Given the description of an element on the screen output the (x, y) to click on. 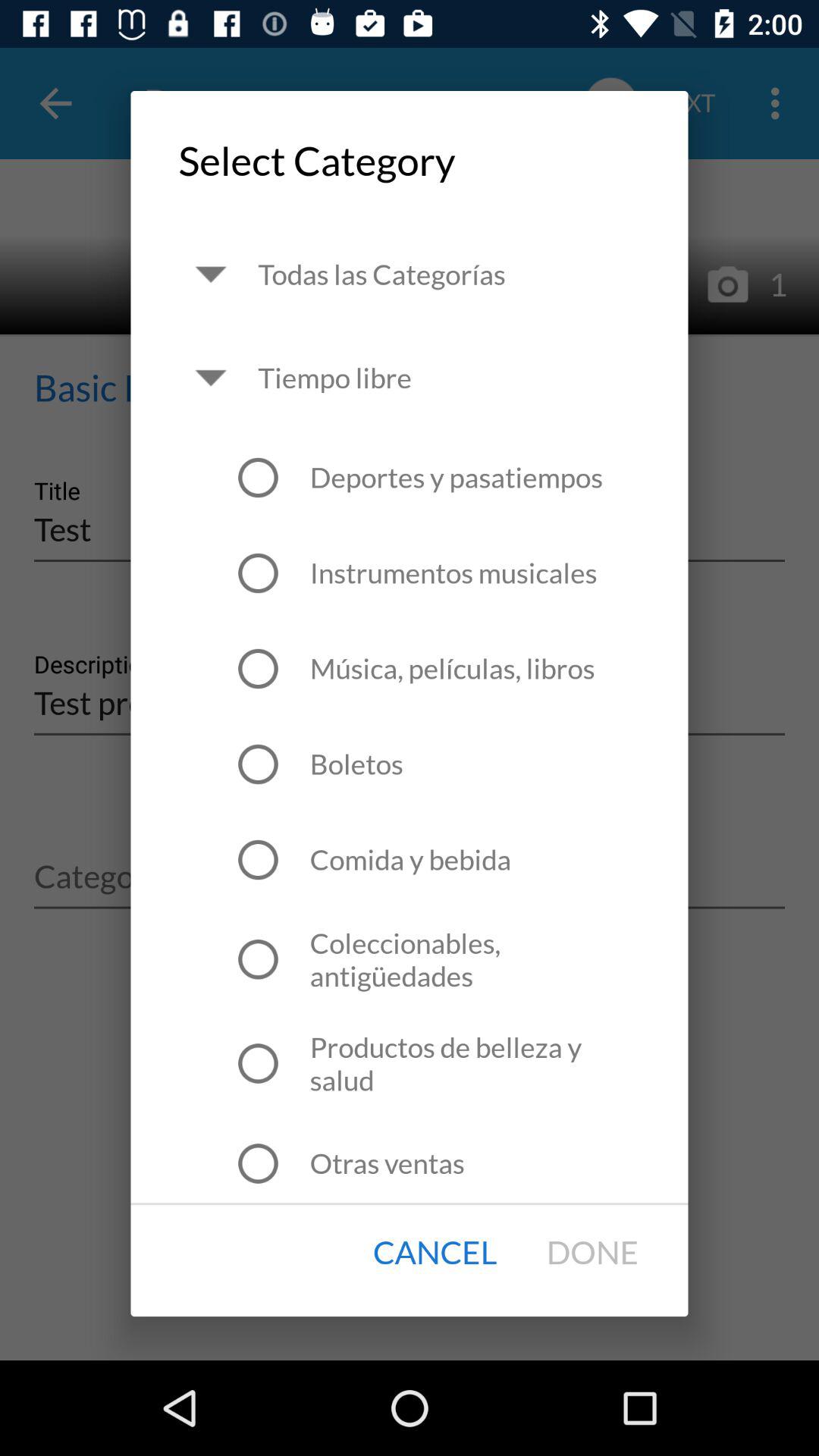
press item below productos de belleza item (386, 1163)
